Given the description of an element on the screen output the (x, y) to click on. 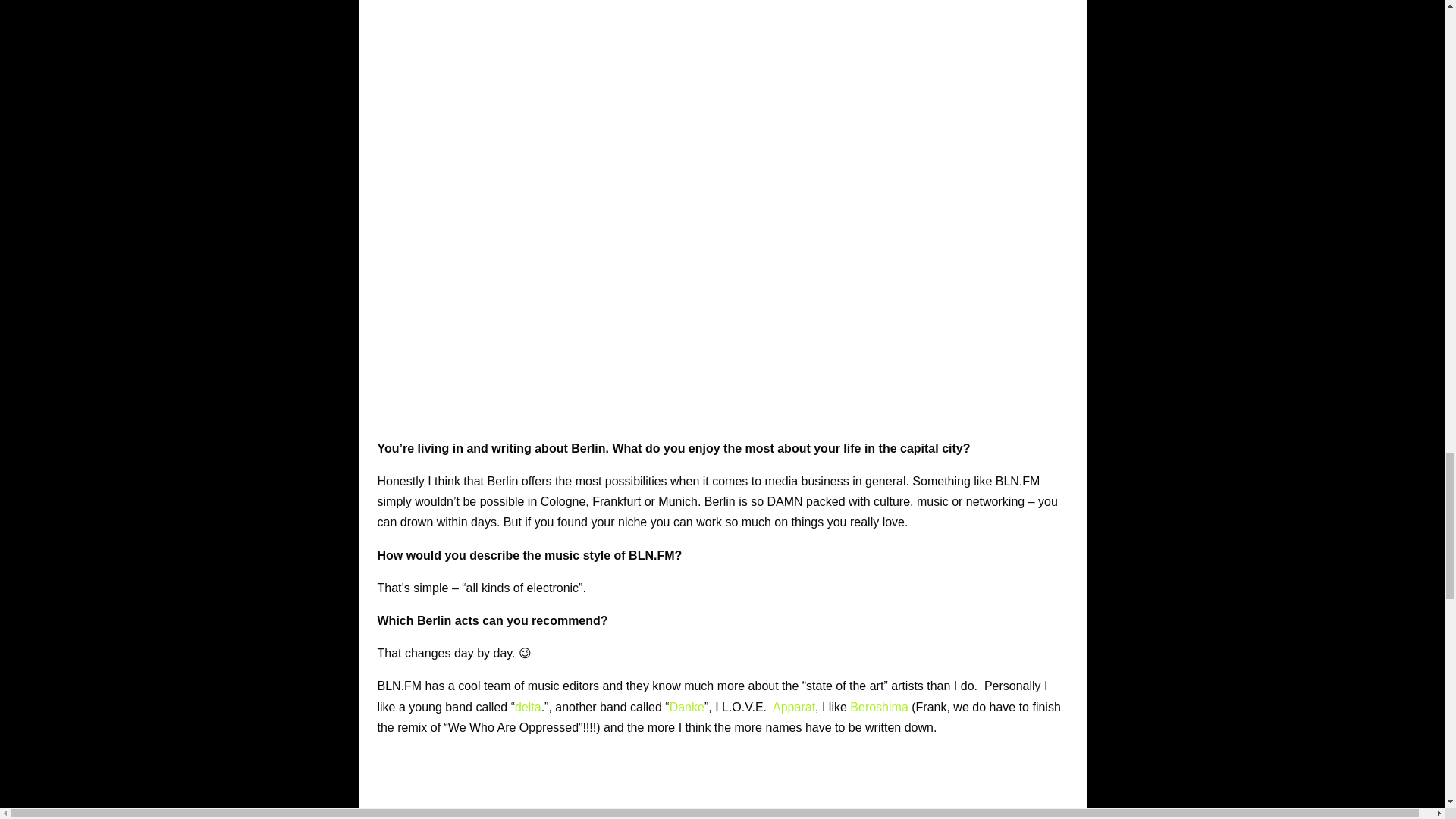
delta (528, 707)
Beroshima (878, 707)
Danke (686, 707)
Apparat (794, 707)
